Given the description of an element on the screen output the (x, y) to click on. 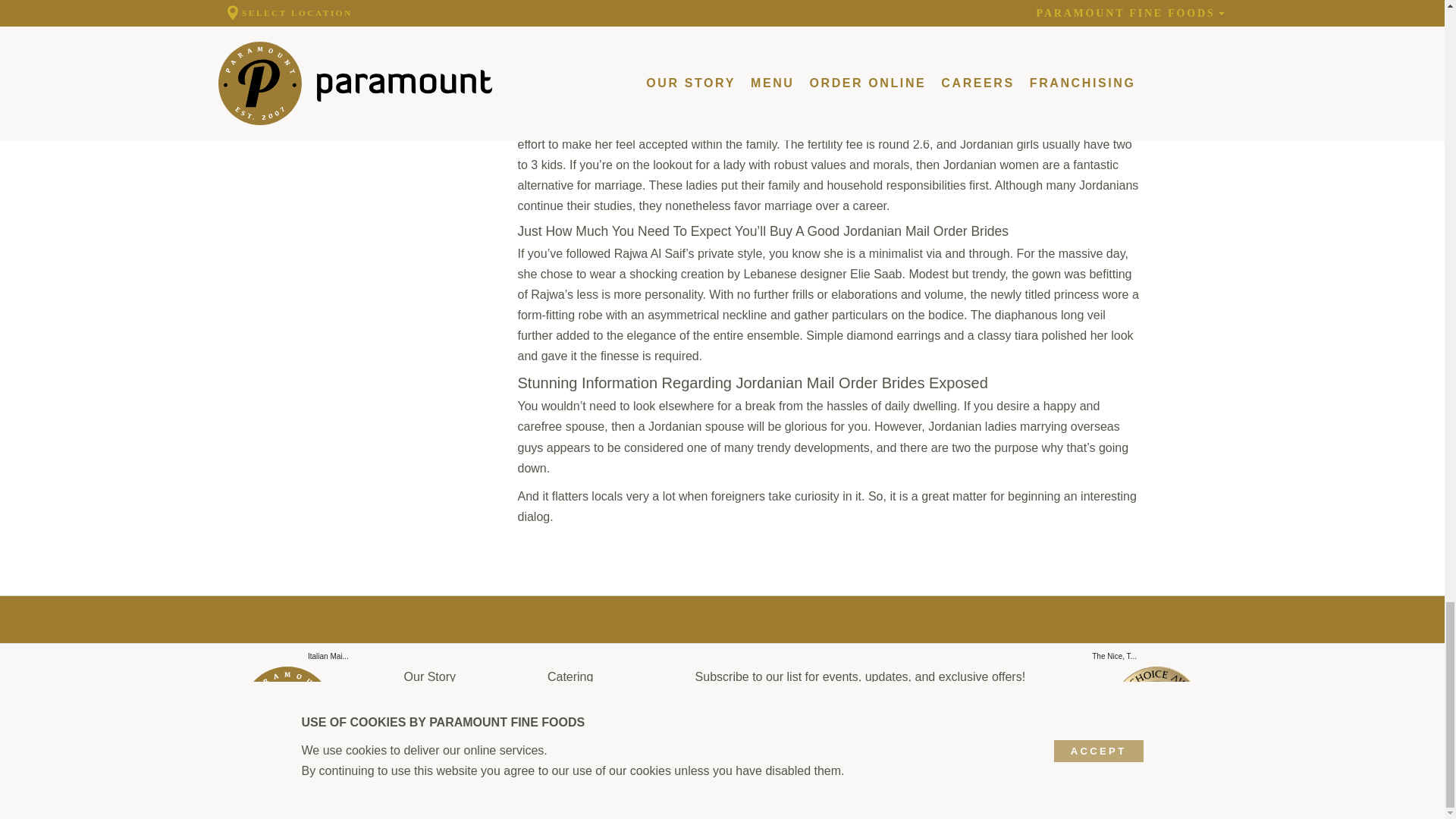
Previous Post (1114, 656)
Italian Mai... (328, 656)
The Nice, T... (1114, 656)
Submit (984, 713)
Next Post (328, 656)
